Given the description of an element on the screen output the (x, y) to click on. 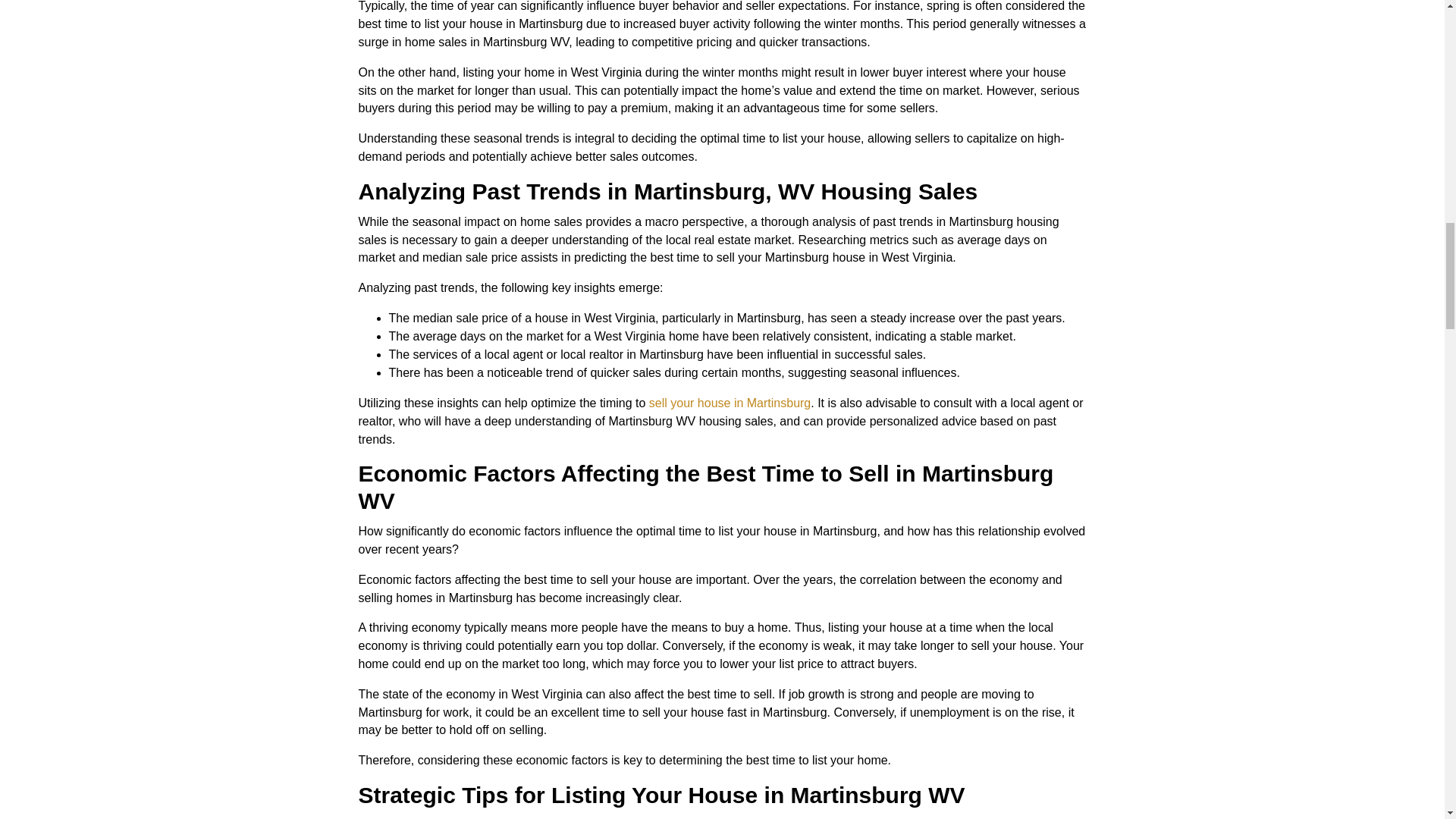
sell your house in Martinsburg (729, 402)
